Given the description of an element on the screen output the (x, y) to click on. 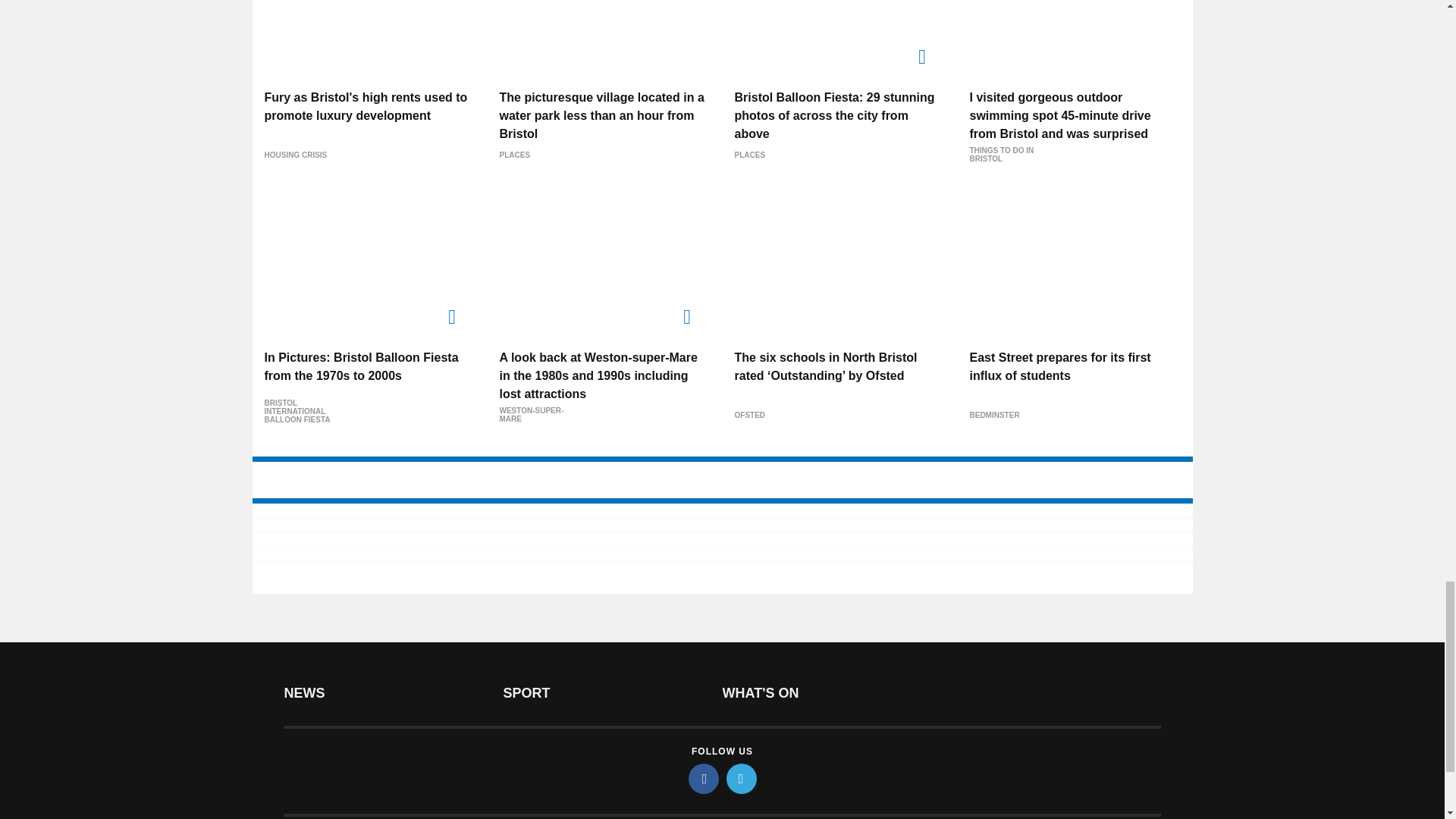
facebook (703, 778)
twitter (741, 778)
